Given the description of an element on the screen output the (x, y) to click on. 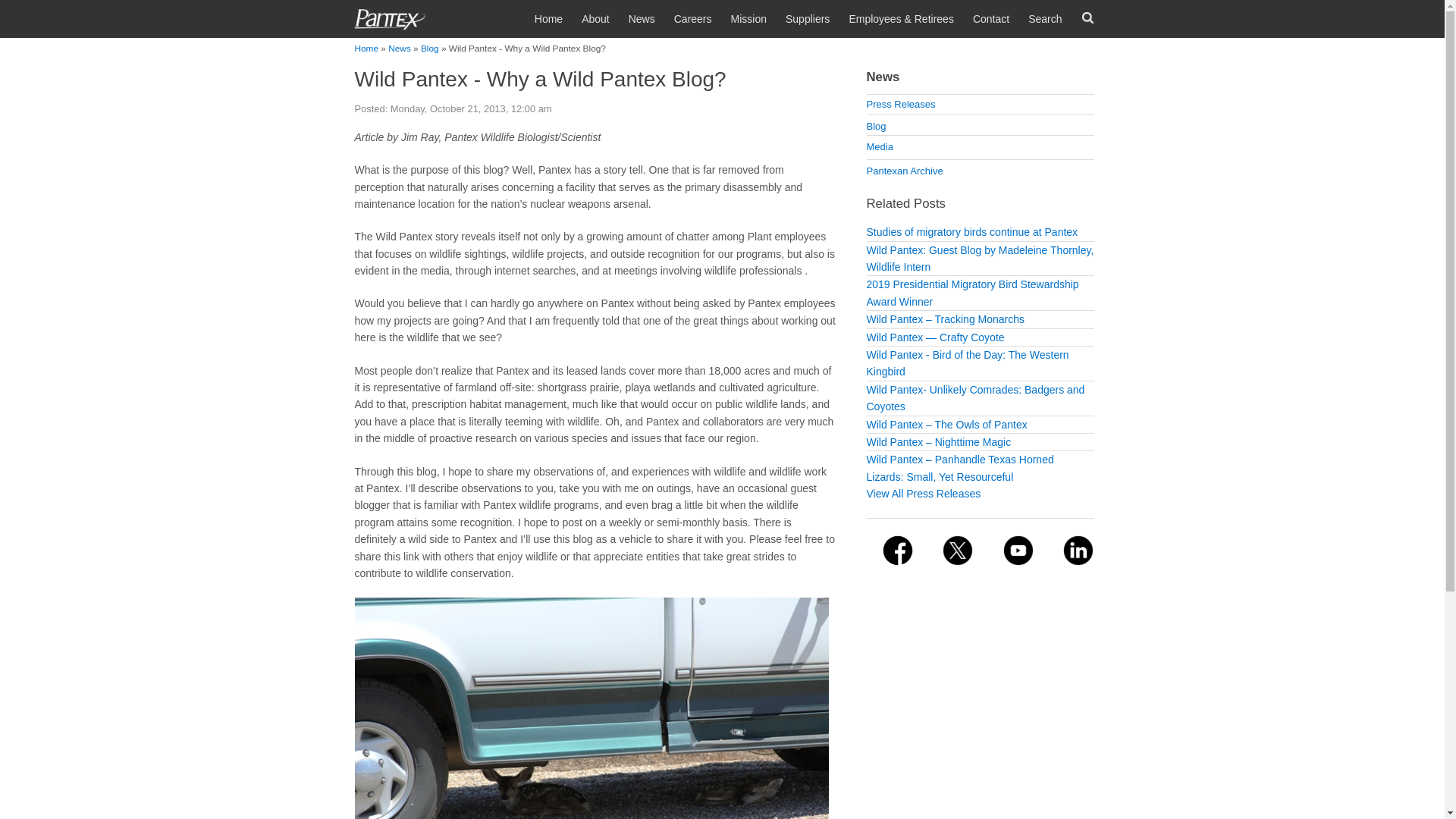
Home (721, 17)
